Given the description of an element on the screen output the (x, y) to click on. 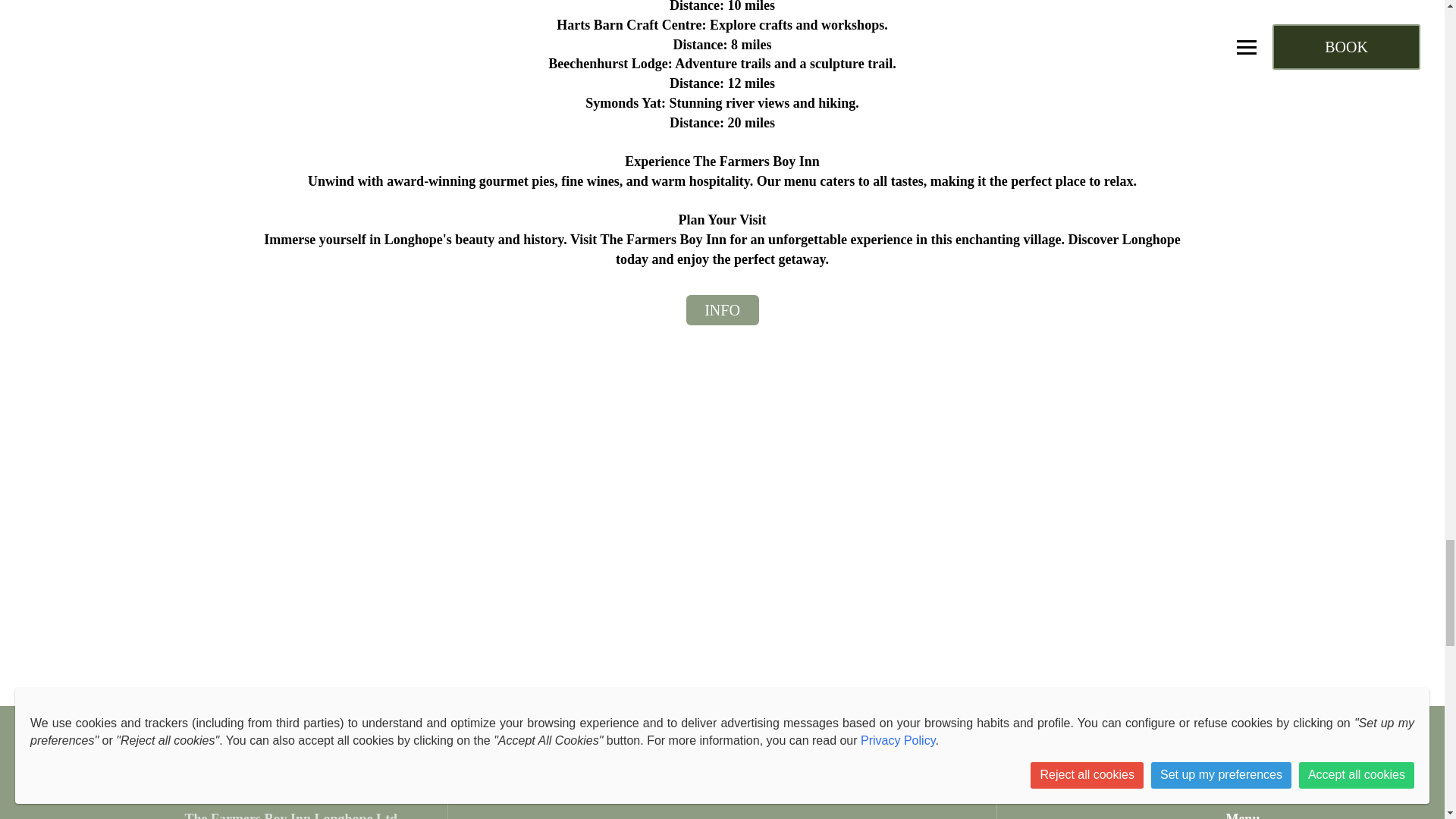
Harts Barn Craft Centre (628, 24)
Beechenhurst Lodge (608, 63)
